Given the description of an element on the screen output the (x, y) to click on. 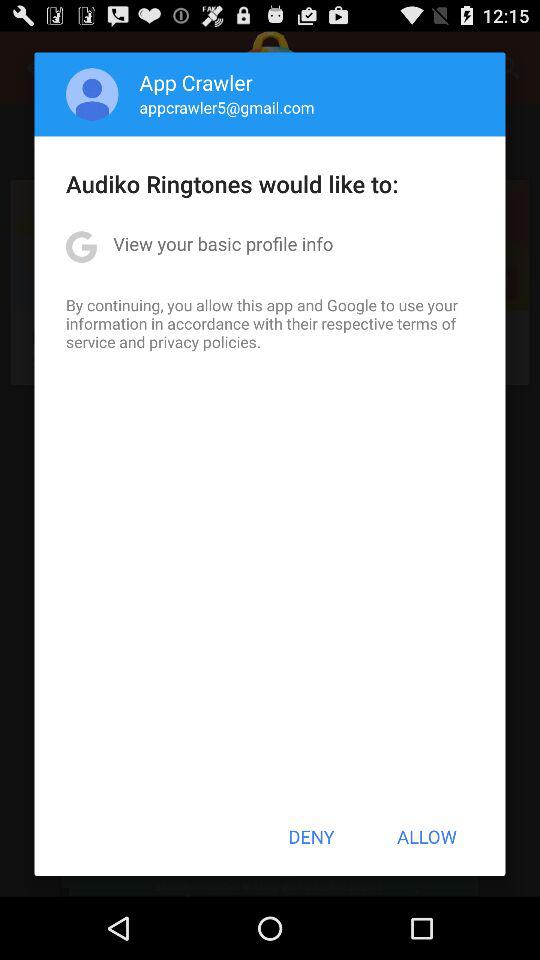
select icon below the audiko ringtones would item (223, 243)
